Given the description of an element on the screen output the (x, y) to click on. 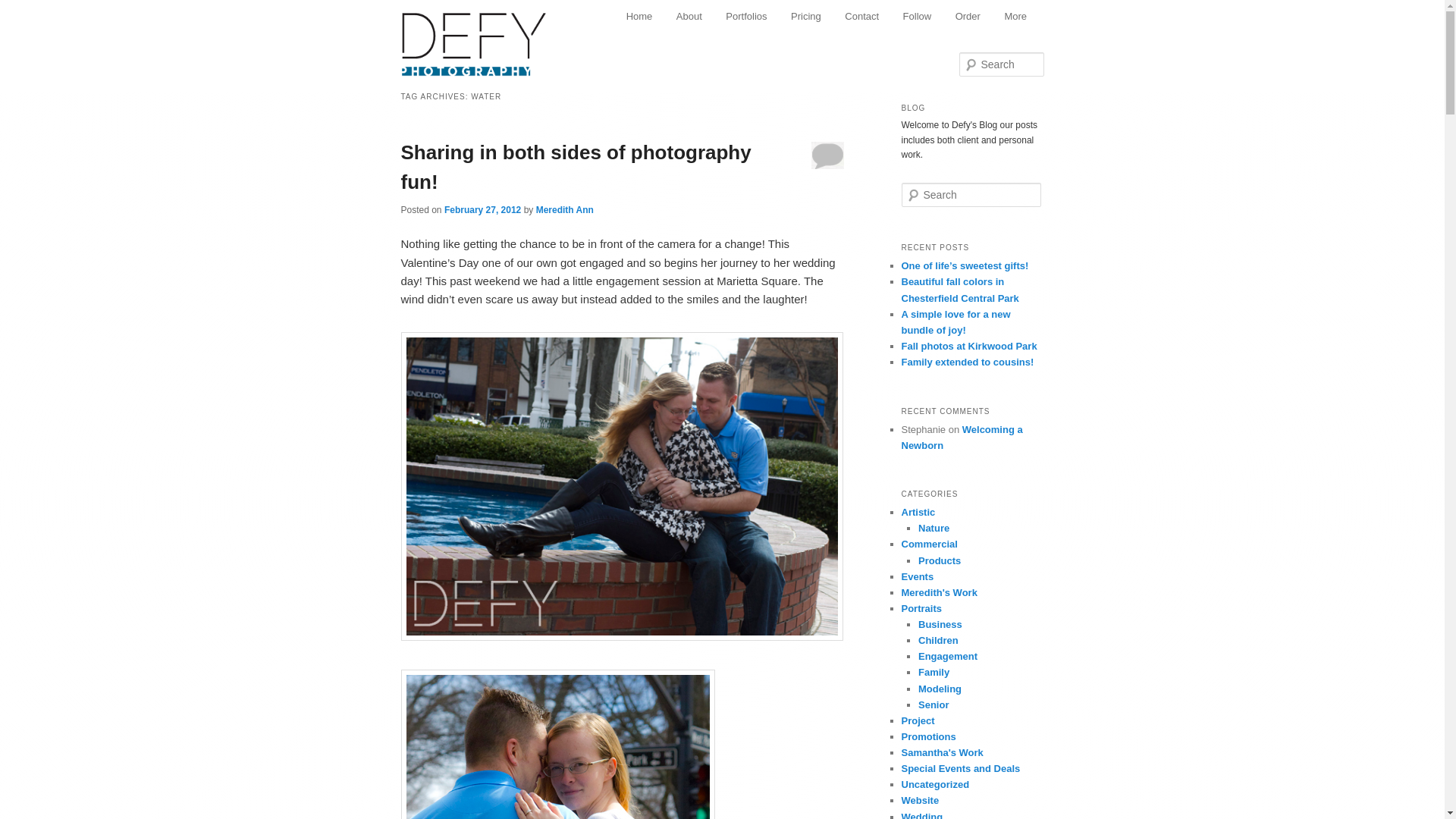
Contact (861, 16)
Permalink to Sharing in both sides of photography fun! (575, 166)
sweet love (557, 744)
Skip to secondary content (700, 18)
Defy Photography LLC (485, 36)
Order (967, 16)
Skip to primary content (693, 18)
Home (638, 16)
View all posts by Meredith Ann (564, 209)
11:00 pm (482, 209)
Portfolios (746, 16)
Skip to primary content (693, 18)
More (1015, 16)
About (688, 16)
Follow (917, 16)
